Given the description of an element on the screen output the (x, y) to click on. 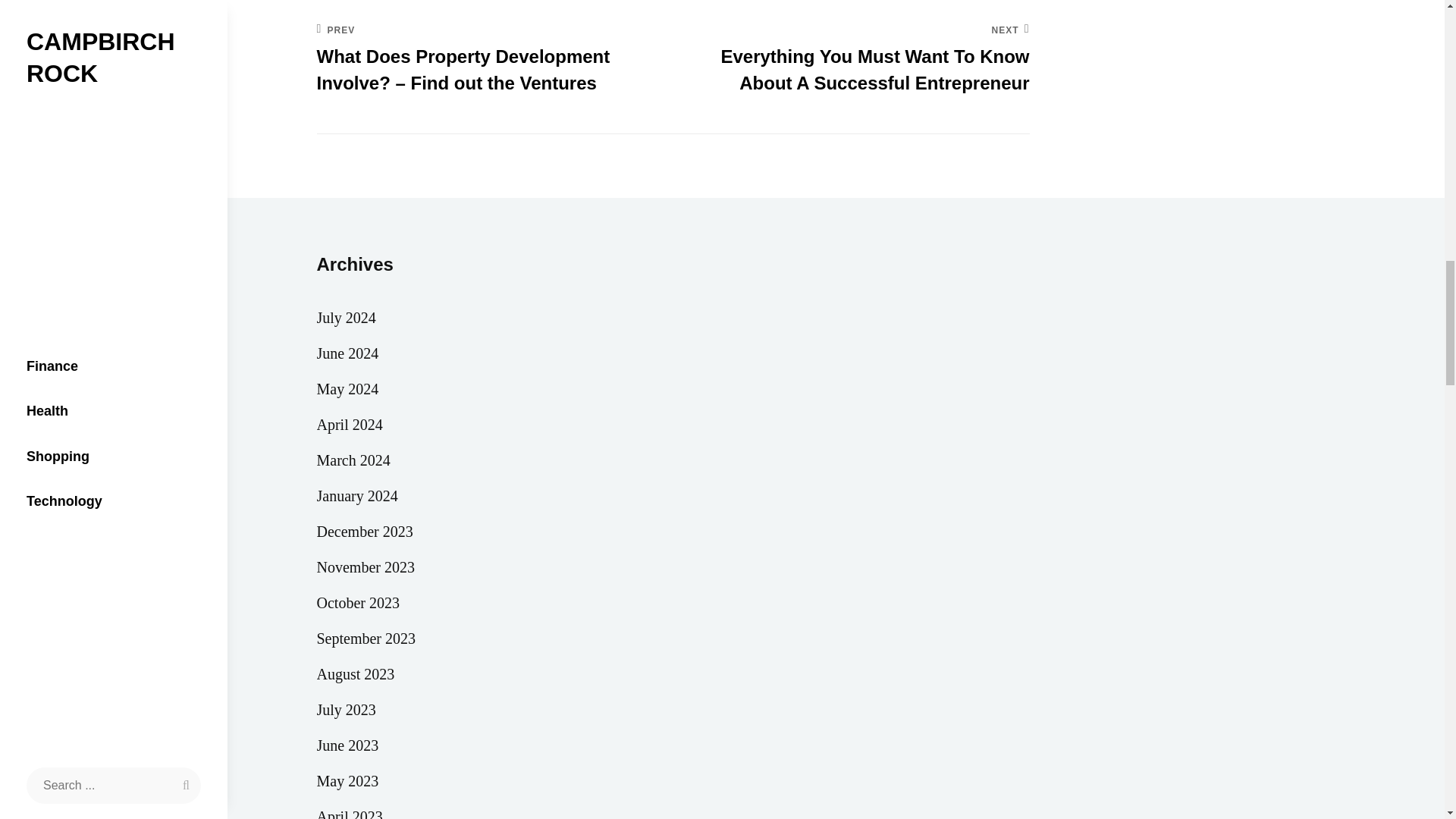
June 2023 (347, 745)
July 2023 (346, 709)
April 2023 (349, 811)
March 2024 (353, 460)
November 2023 (365, 566)
January 2024 (357, 495)
October 2023 (357, 602)
June 2024 (347, 352)
July 2024 (346, 317)
September 2023 (366, 637)
May 2023 (347, 780)
August 2023 (355, 673)
April 2024 (349, 424)
December 2023 (365, 531)
